Given the description of an element on the screen output the (x, y) to click on. 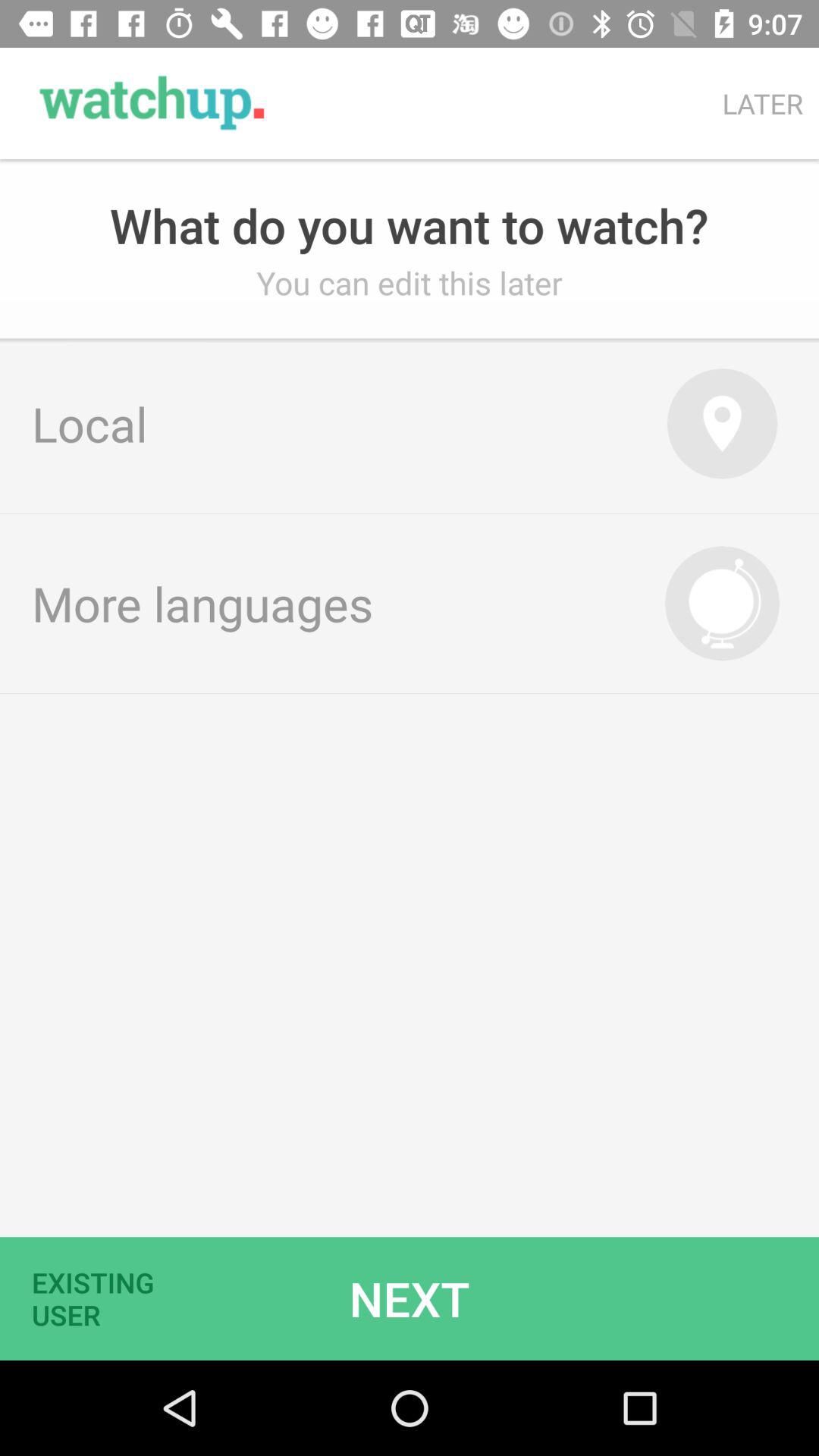
choose icon next to existing
user icon (409, 1298)
